Given the description of an element on the screen output the (x, y) to click on. 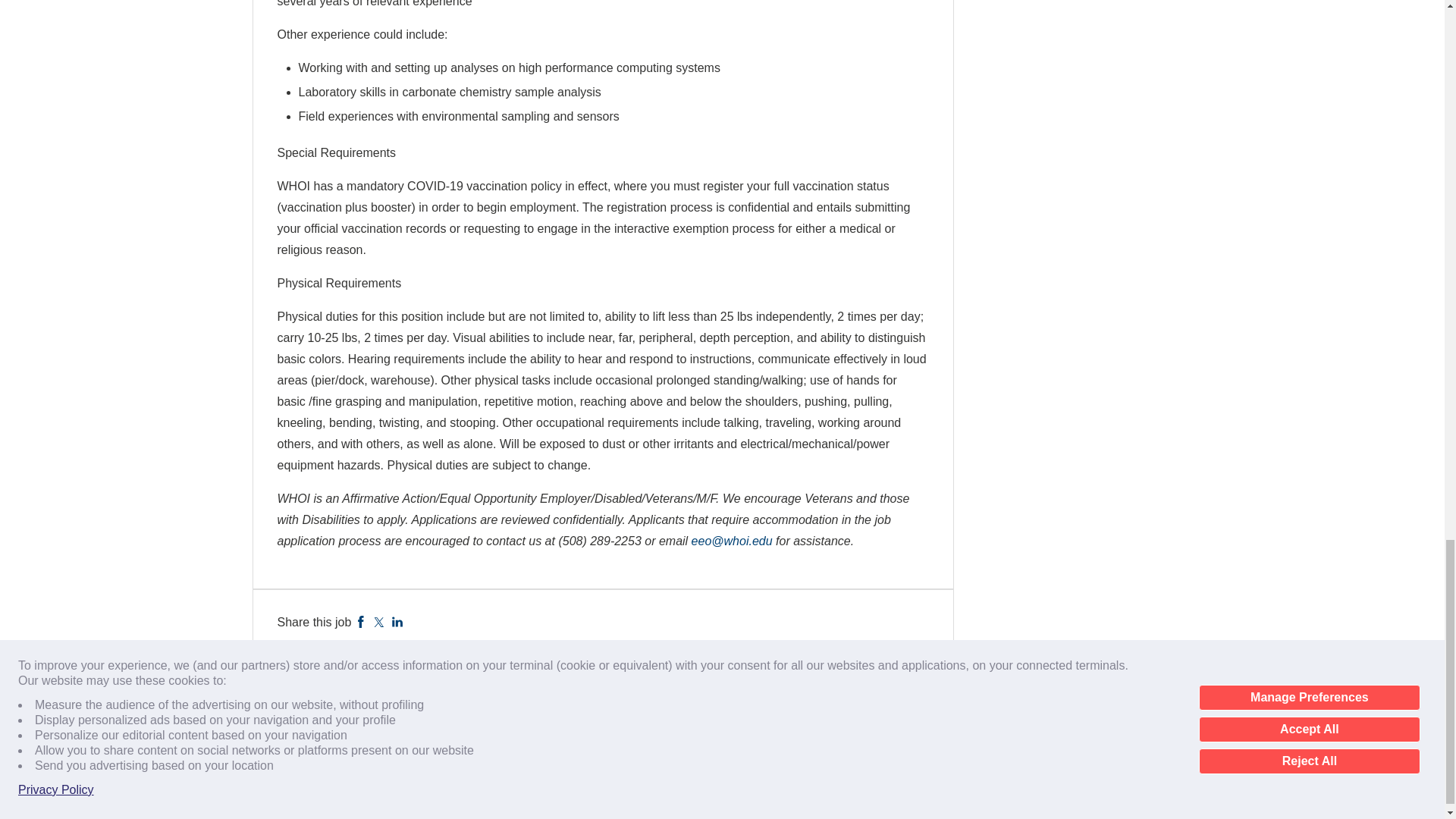
Facebook (360, 621)
